Given the description of an element on the screen output the (x, y) to click on. 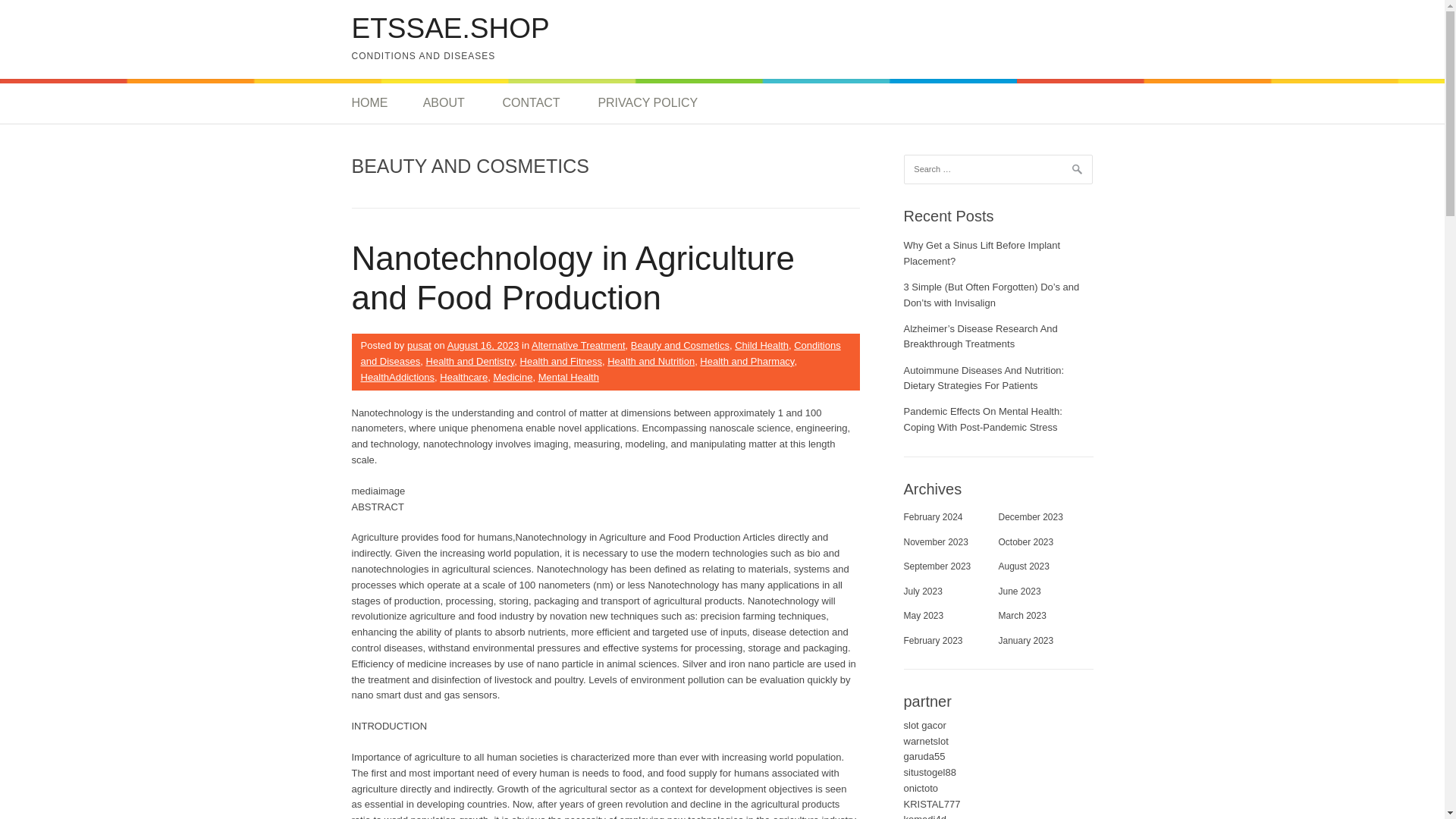
Health and Dentistry (470, 360)
Healthcare (463, 377)
PRIVACY POLICY (646, 102)
Health and Nutrition (650, 360)
ETSSAE.SHOP (451, 28)
Mental Health (568, 377)
August 16, 2023 (482, 345)
ABOUT (443, 102)
Beauty and Cosmetics (679, 345)
HealthAddictions (398, 377)
Health and Pharmacy (746, 360)
CONTACT (530, 102)
pusat (418, 345)
Conditions and Diseases (601, 352)
Skip to content (32, 7)
